Given the description of an element on the screen output the (x, y) to click on. 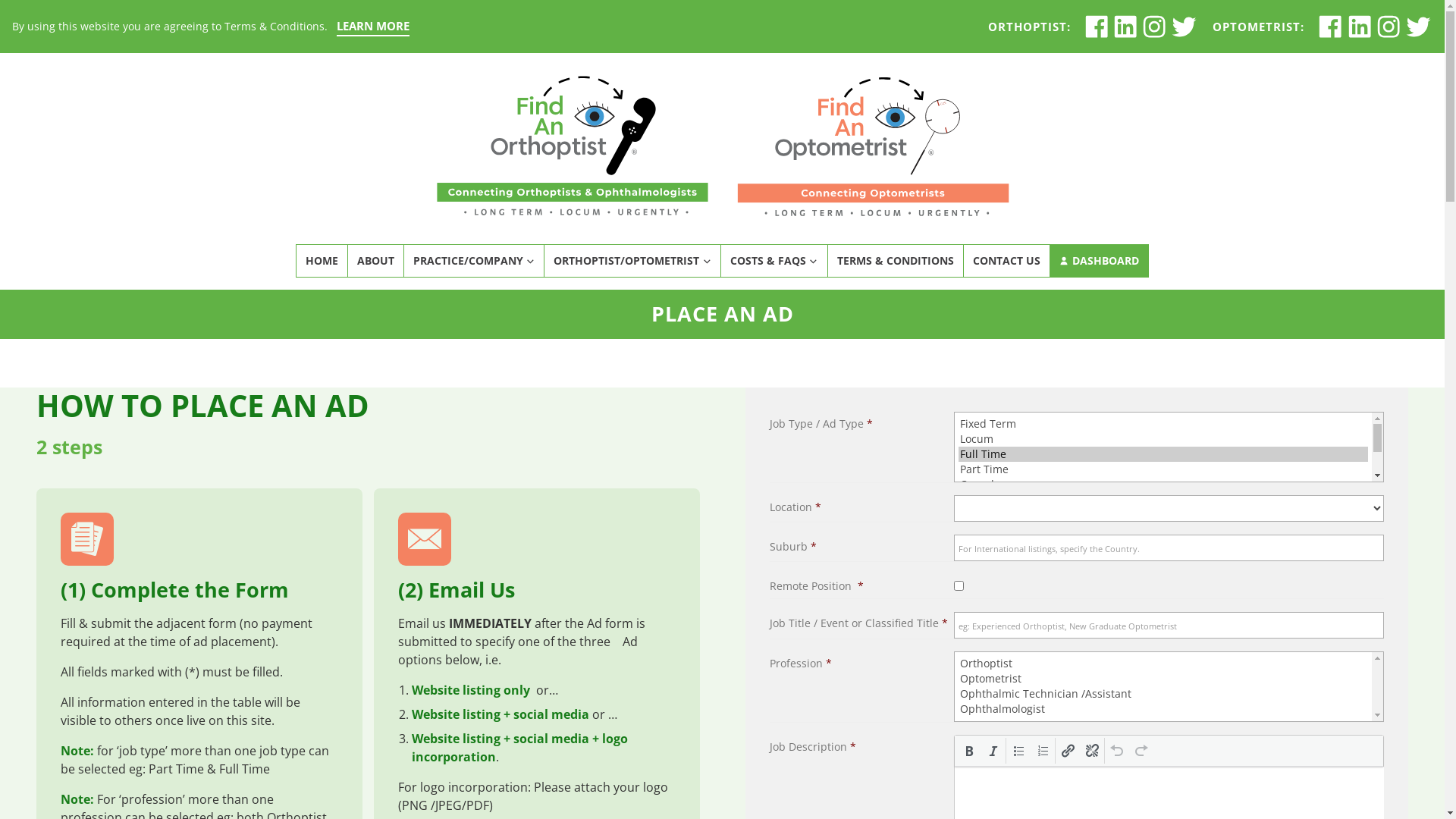
TERMS & CONDITIONS Element type: text (895, 260)
CONTACT US Element type: text (1006, 260)
DASHBOARD Element type: text (1098, 260)
COSTS & FAQS Element type: text (773, 260)
LEARN MORE Element type: text (372, 27)
PRACTICE/COMPANY Element type: text (473, 260)
ORTHOPTIST/OPTOMETRIST Element type: text (631, 260)
HOME Element type: text (321, 260)
ABOUT Element type: text (375, 260)
